Given the description of an element on the screen output the (x, y) to click on. 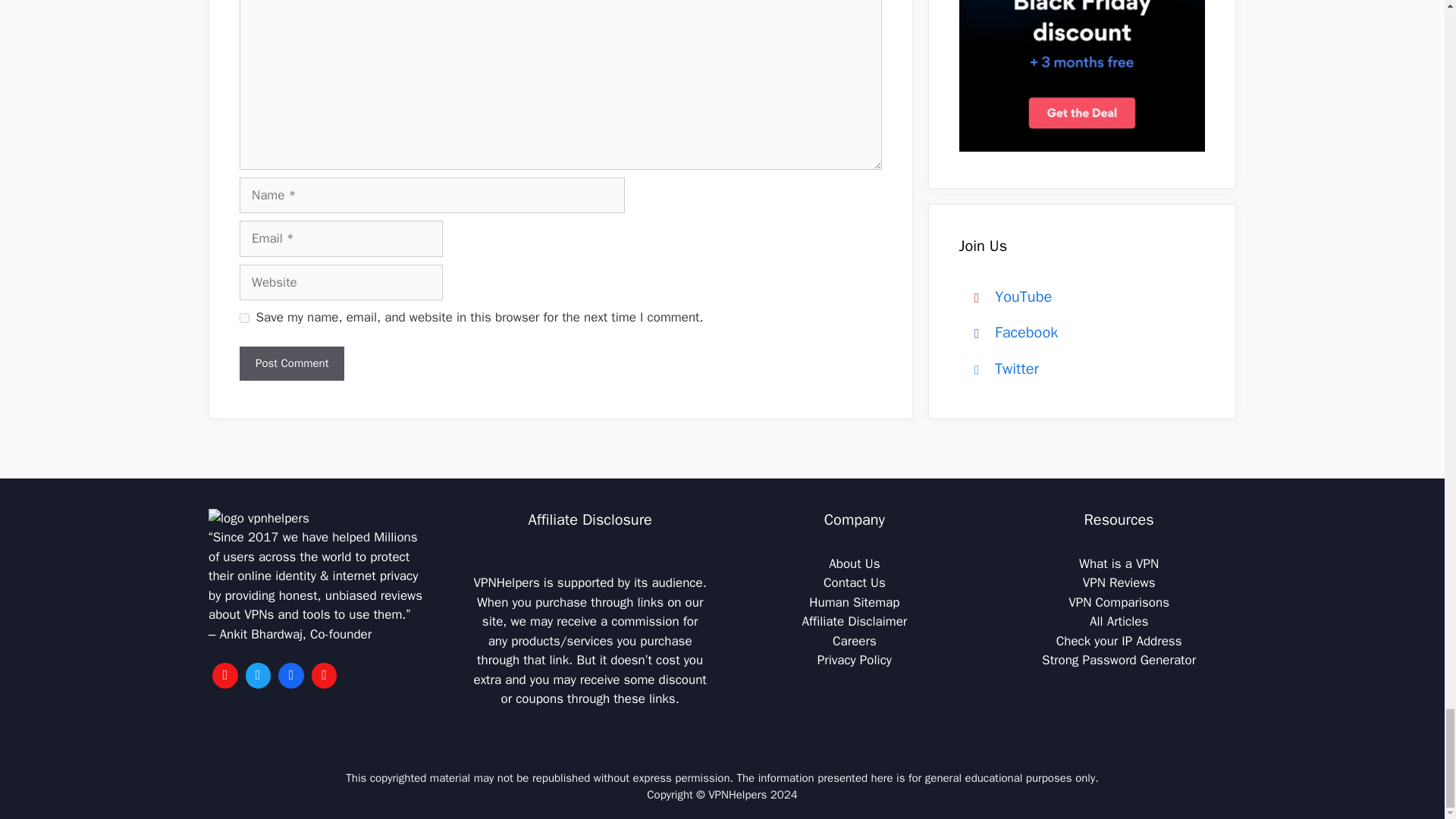
yes (244, 317)
Post Comment (291, 363)
